Given the description of an element on the screen output the (x, y) to click on. 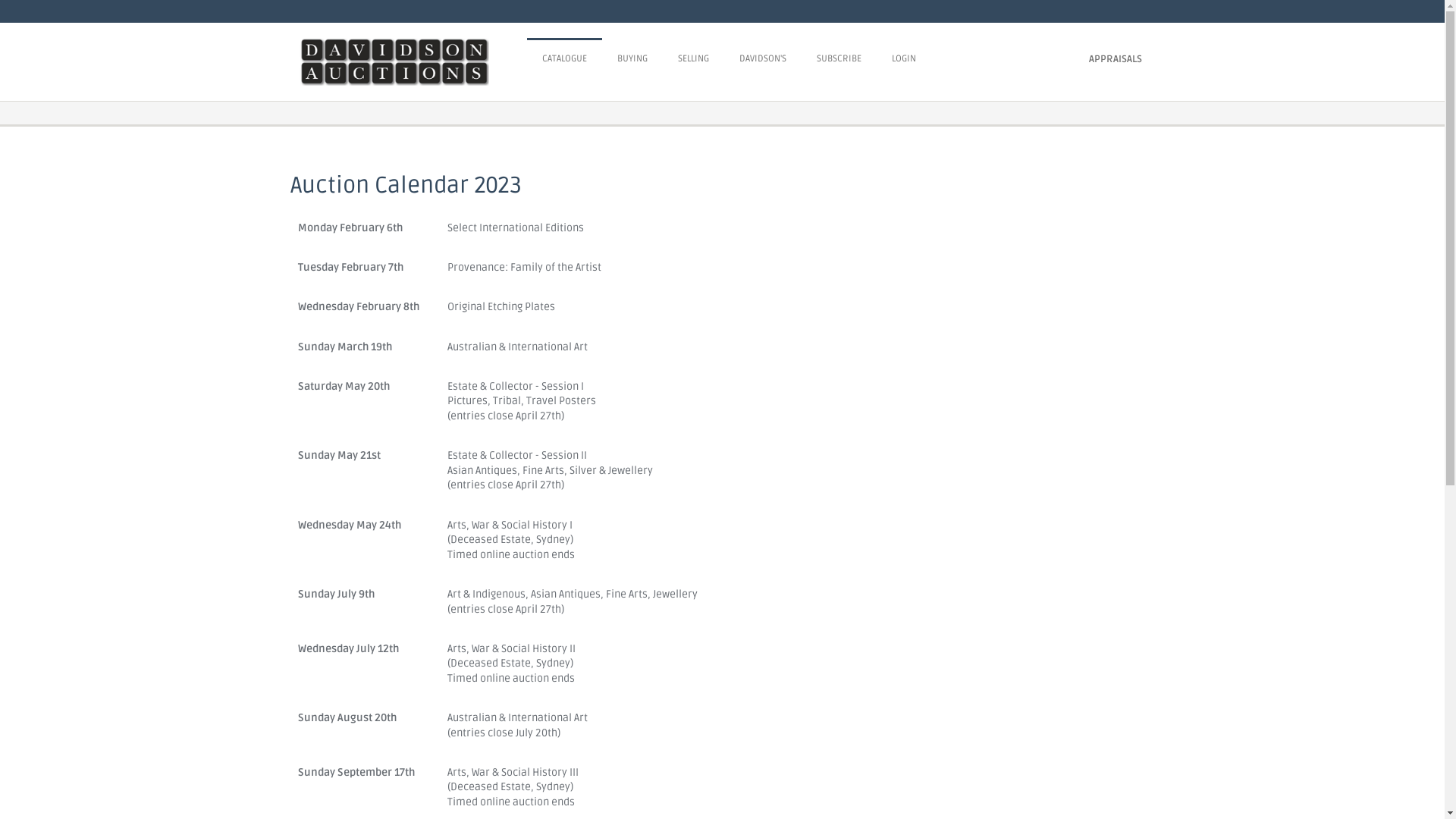
CATALOGUE Element type: text (564, 59)
SUBSCRIBE Element type: text (838, 59)
SELLING Element type: text (693, 59)
Davidson Auctions Element type: hover (413, 61)
BUYING Element type: text (632, 59)
DAVIDSON'S Element type: text (762, 59)
APPRAISALS Element type: text (1115, 59)
LOGIN Element type: text (903, 59)
